Given the description of an element on the screen output the (x, y) to click on. 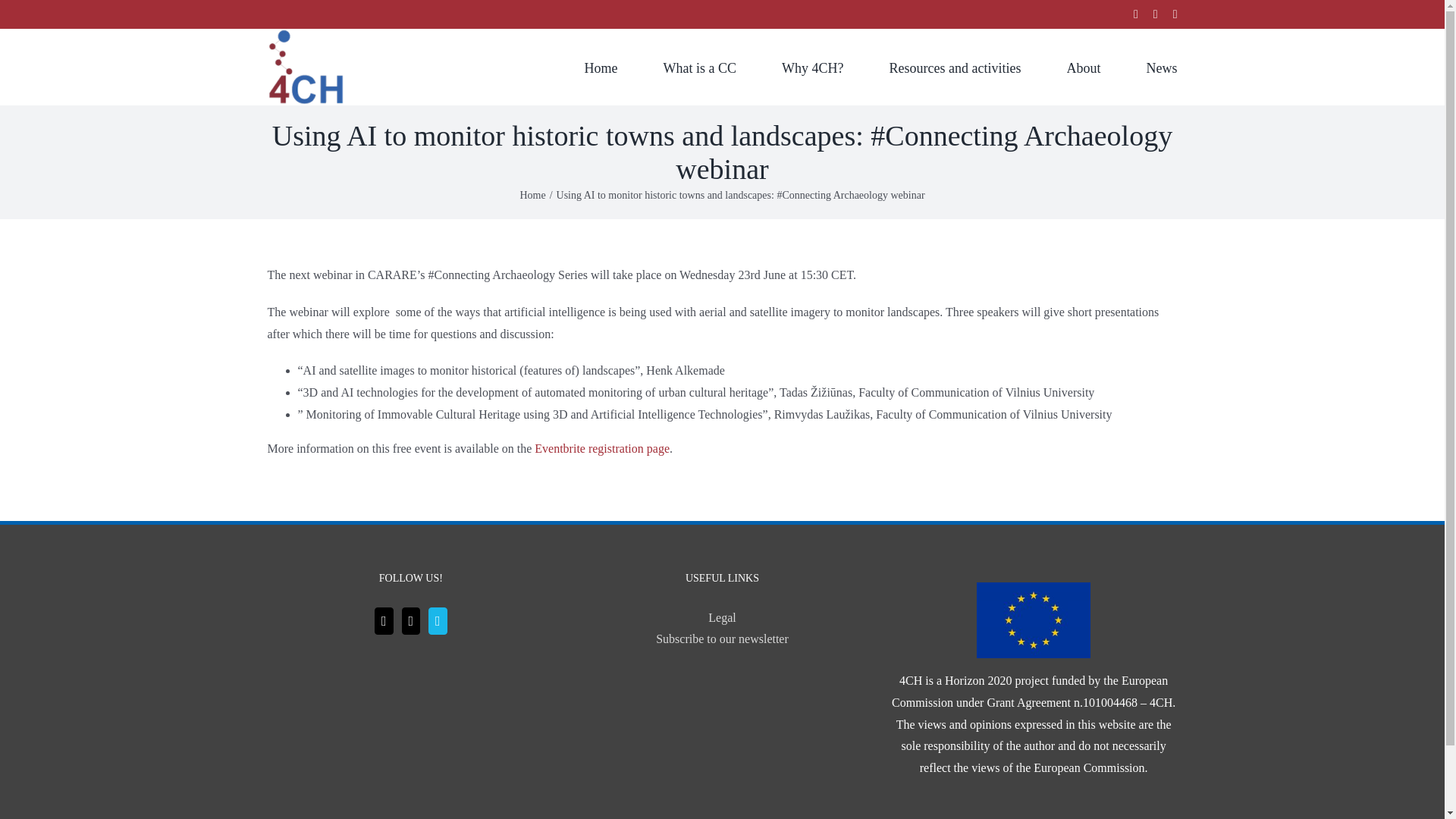
Resources and activities (955, 66)
X (1155, 14)
Why 4CH? (812, 66)
News (1162, 66)
What is a CC (699, 66)
Vimeo (1175, 14)
About (1082, 66)
Email (1136, 14)
Home (601, 66)
